Given the description of an element on the screen output the (x, y) to click on. 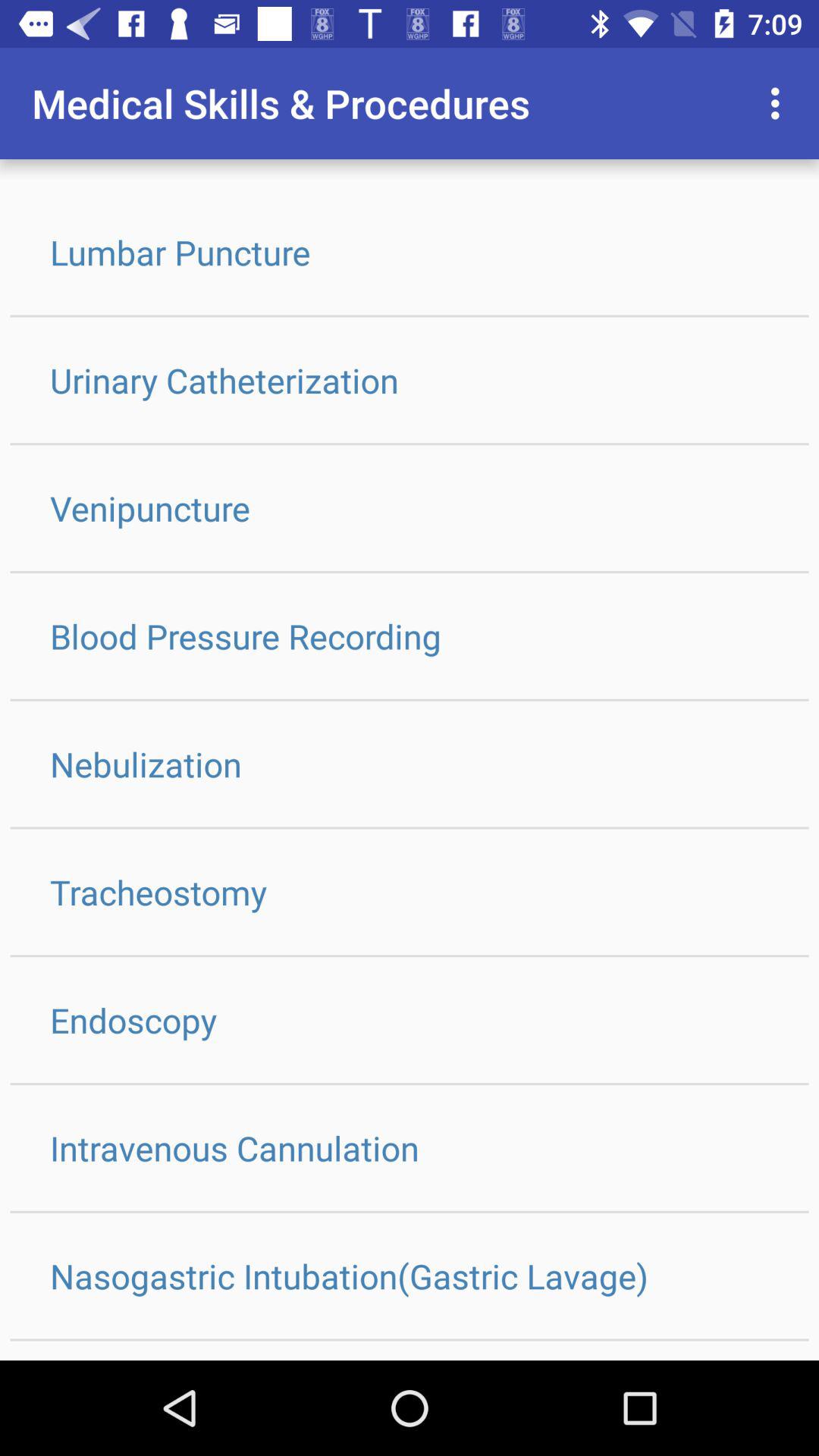
choose item above venipuncture (409, 380)
